Given the description of an element on the screen output the (x, y) to click on. 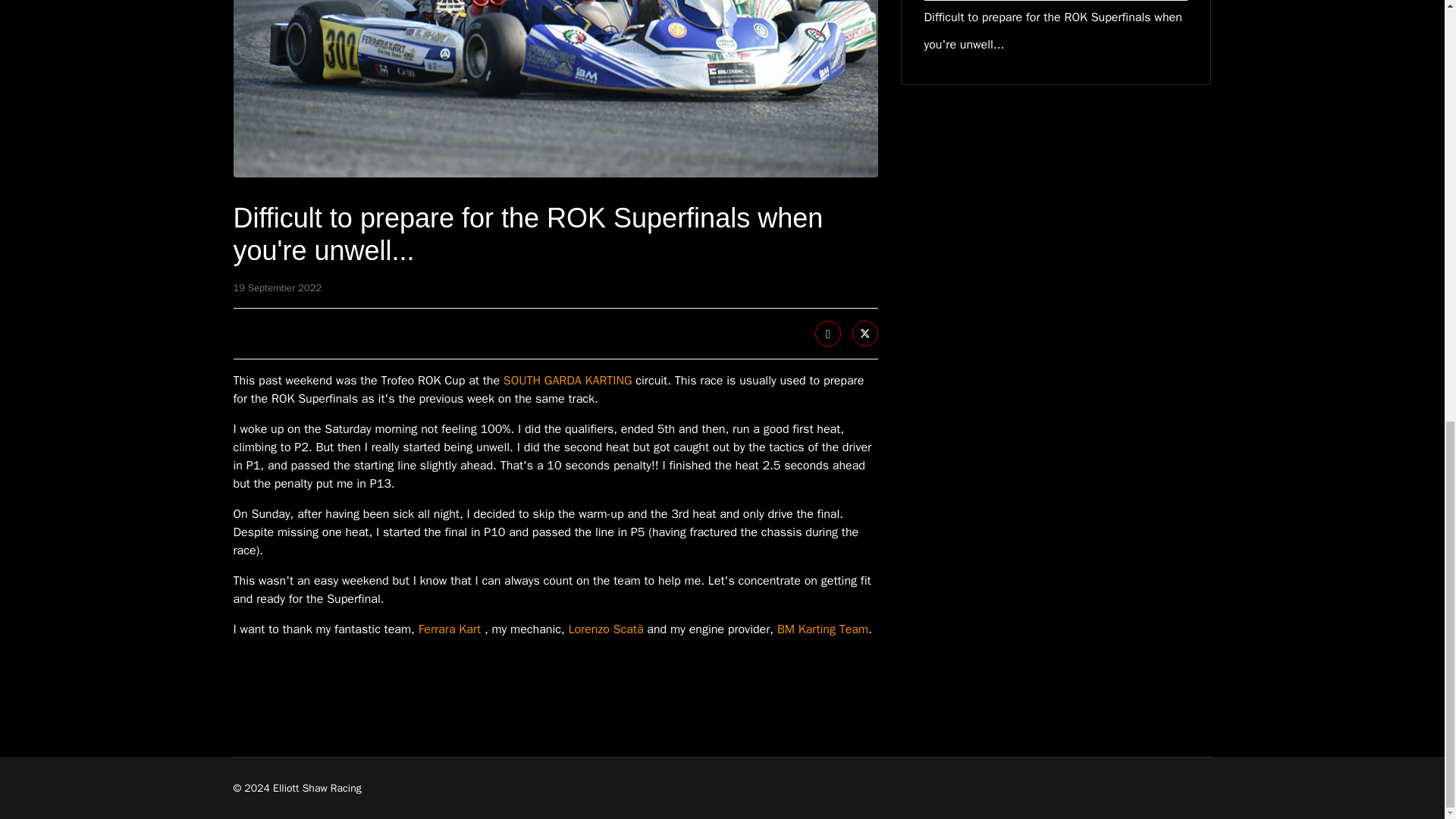
BM Karting Team (822, 629)
Ferrara Kart (449, 629)
SOUTH GARDA KARTING (567, 380)
